Given the description of an element on the screen output the (x, y) to click on. 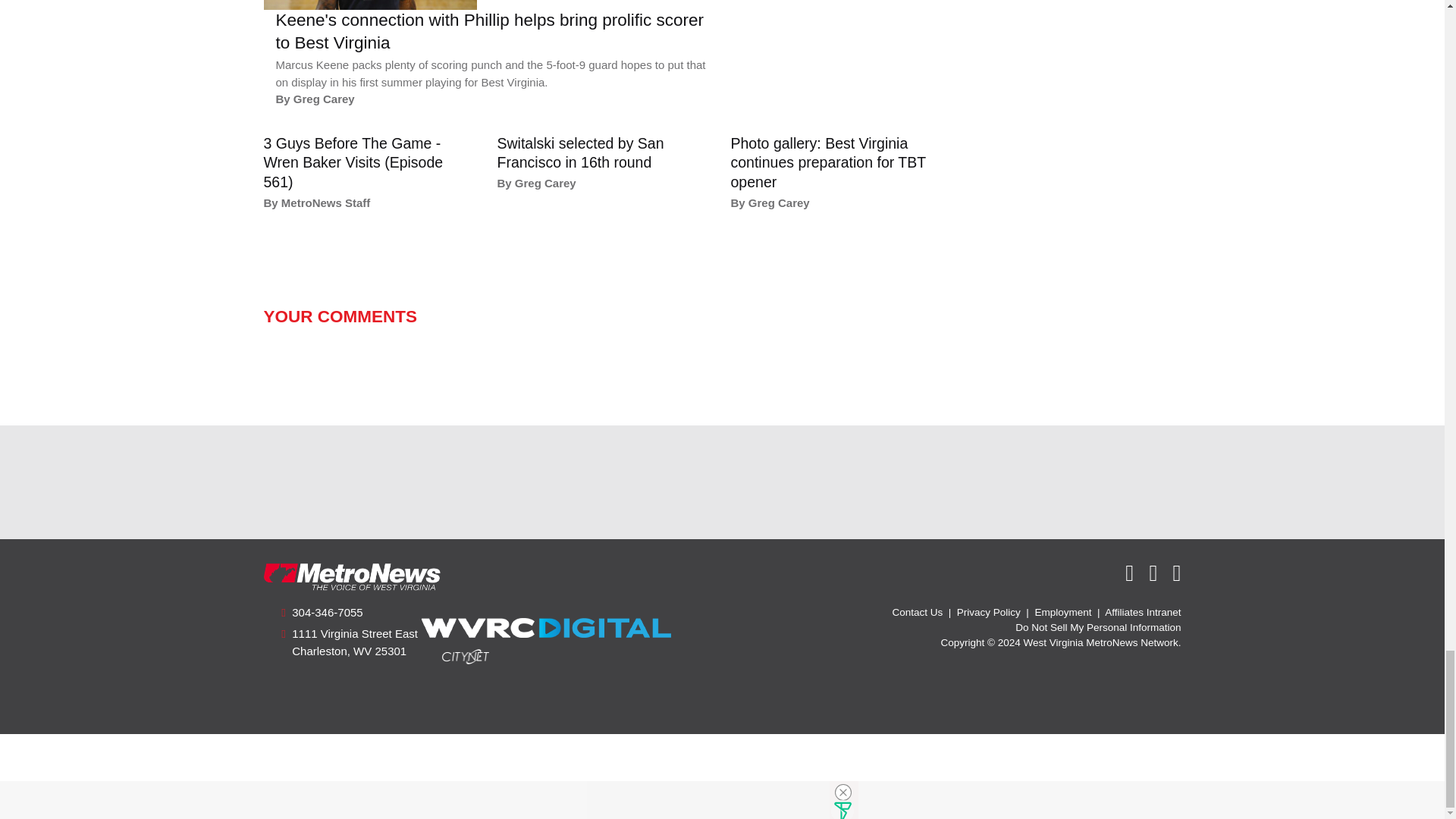
3rd party ad content (721, 481)
